Given the description of an element on the screen output the (x, y) to click on. 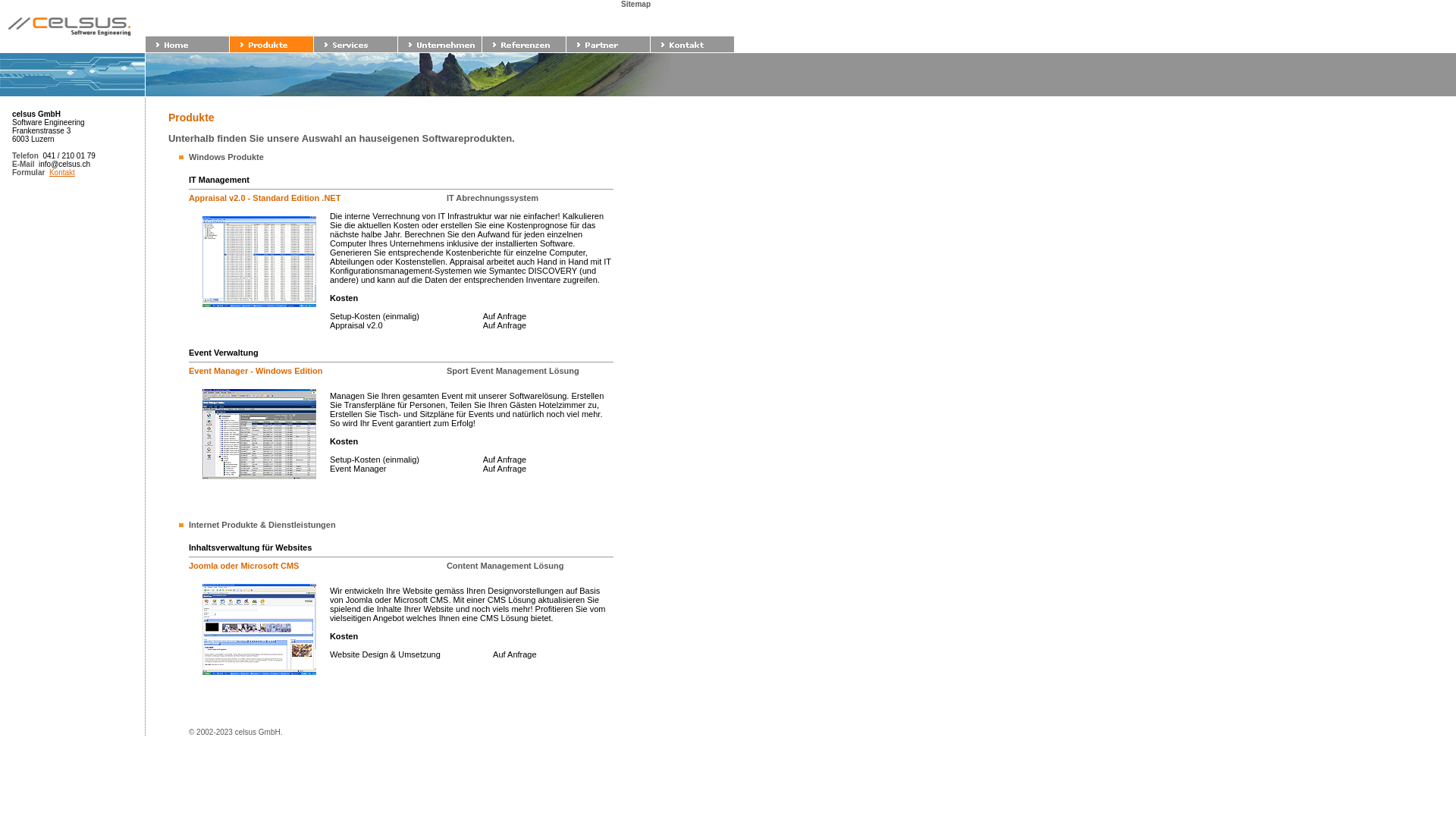
Kontakt Element type: text (62, 172)
